Given the description of an element on the screen output the (x, y) to click on. 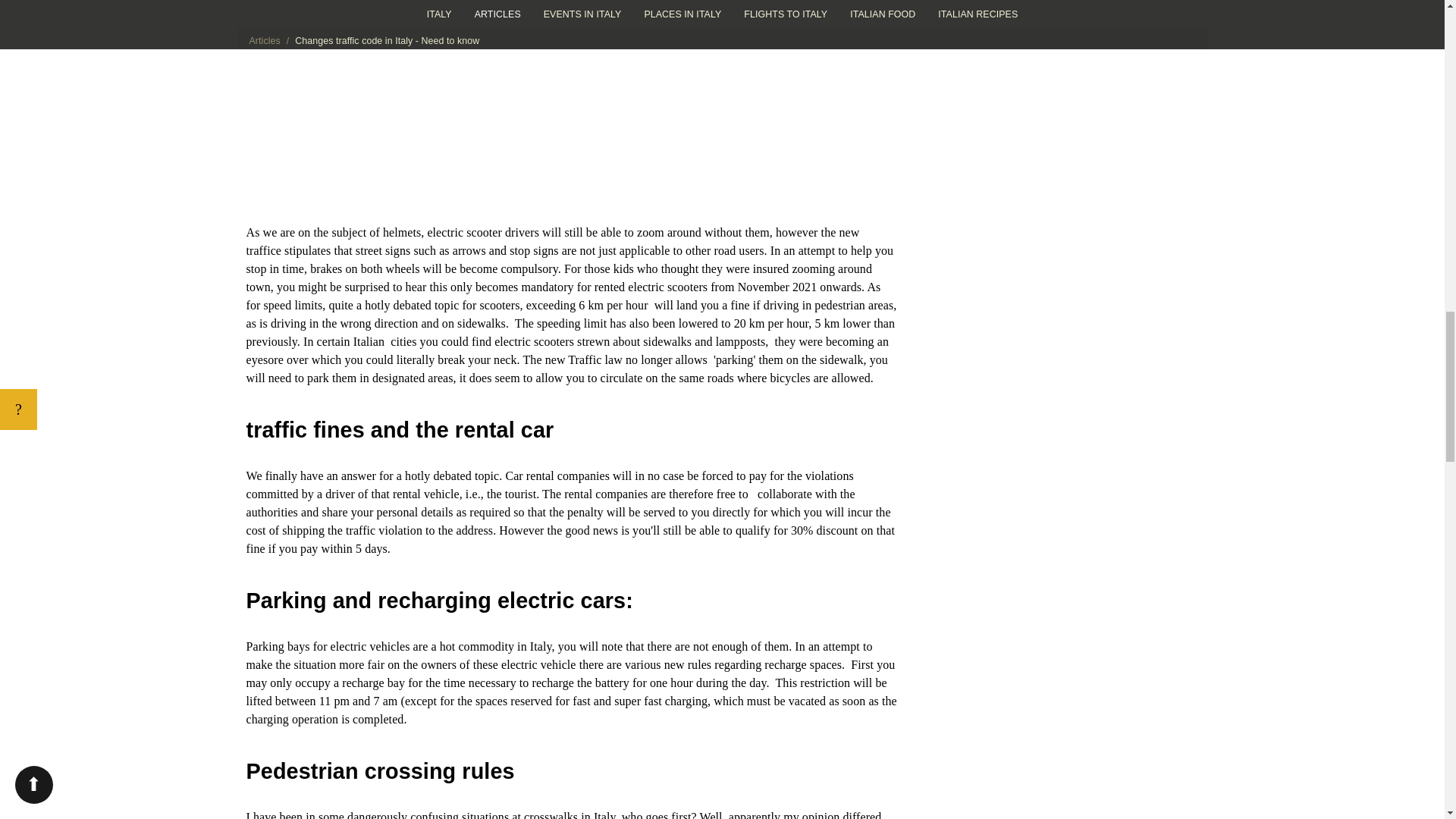
Random parking of electric scooters in Italy (571, 102)
